Given the description of an element on the screen output the (x, y) to click on. 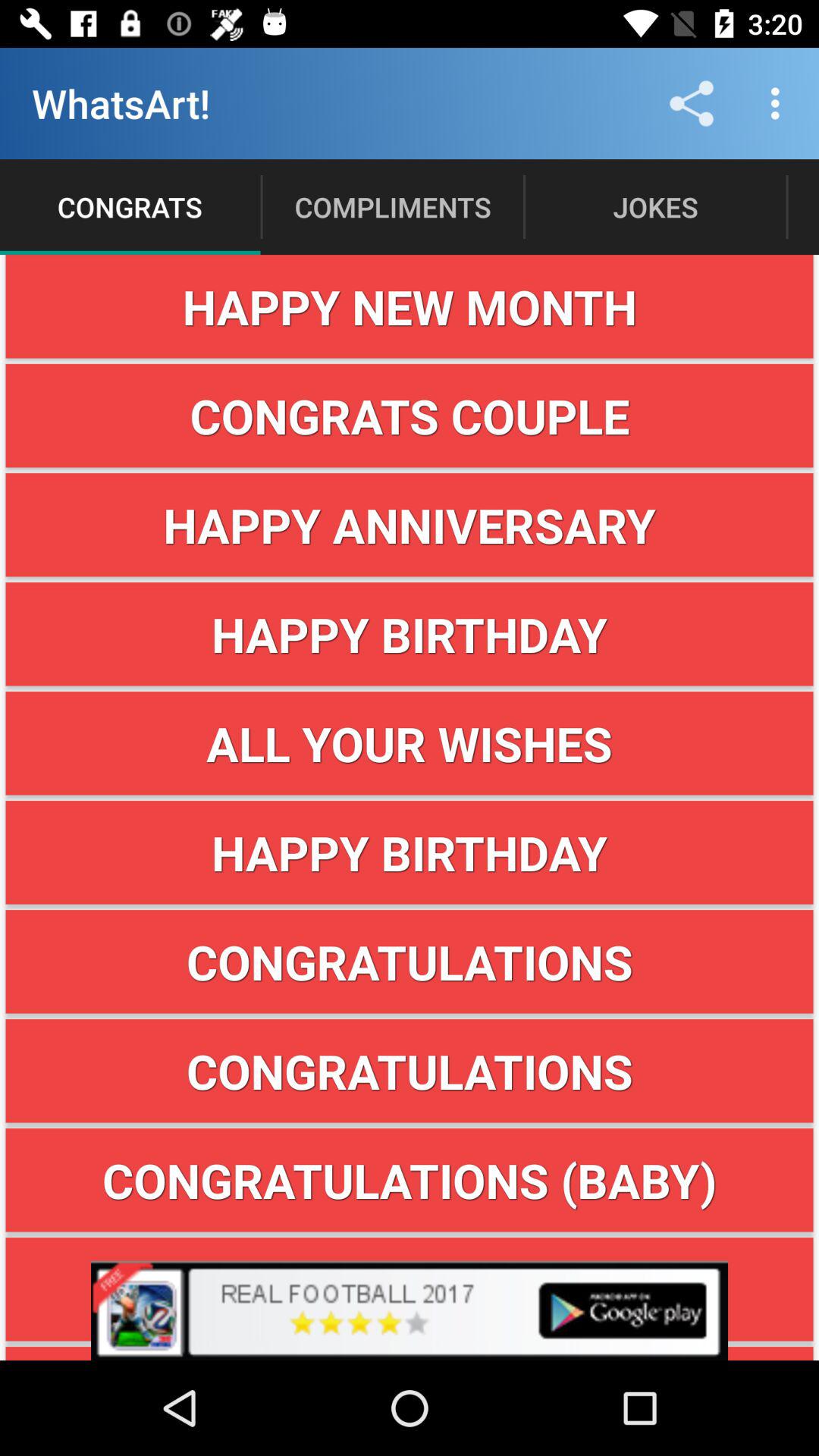
jump until good for you! button (409, 1353)
